Given the description of an element on the screen output the (x, y) to click on. 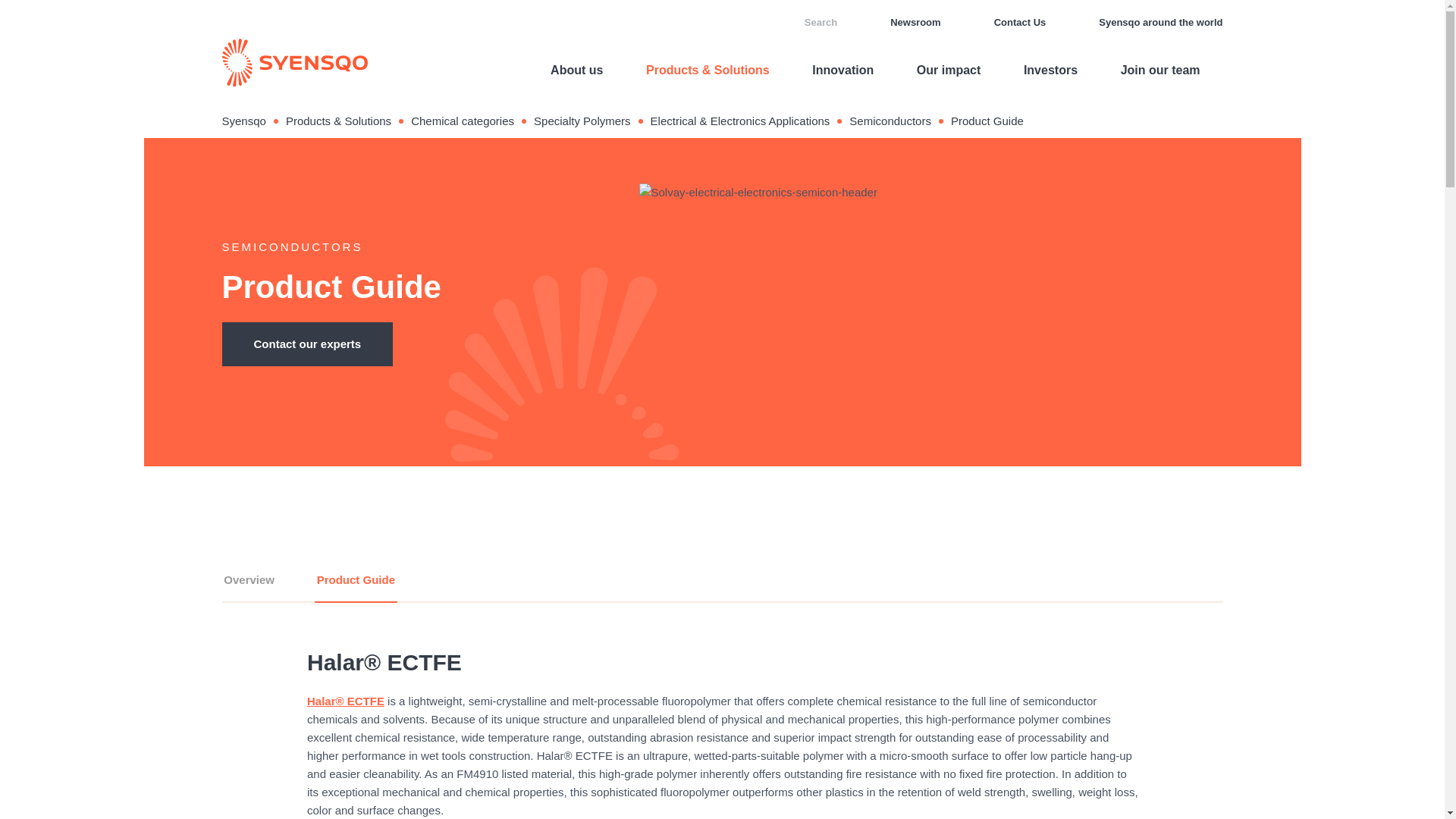
Contact Us (1008, 23)
Search (809, 23)
Newsroom (903, 23)
About us (576, 70)
Innovation (842, 70)
Syensqo around the world (1149, 23)
